Given the description of an element on the screen output the (x, y) to click on. 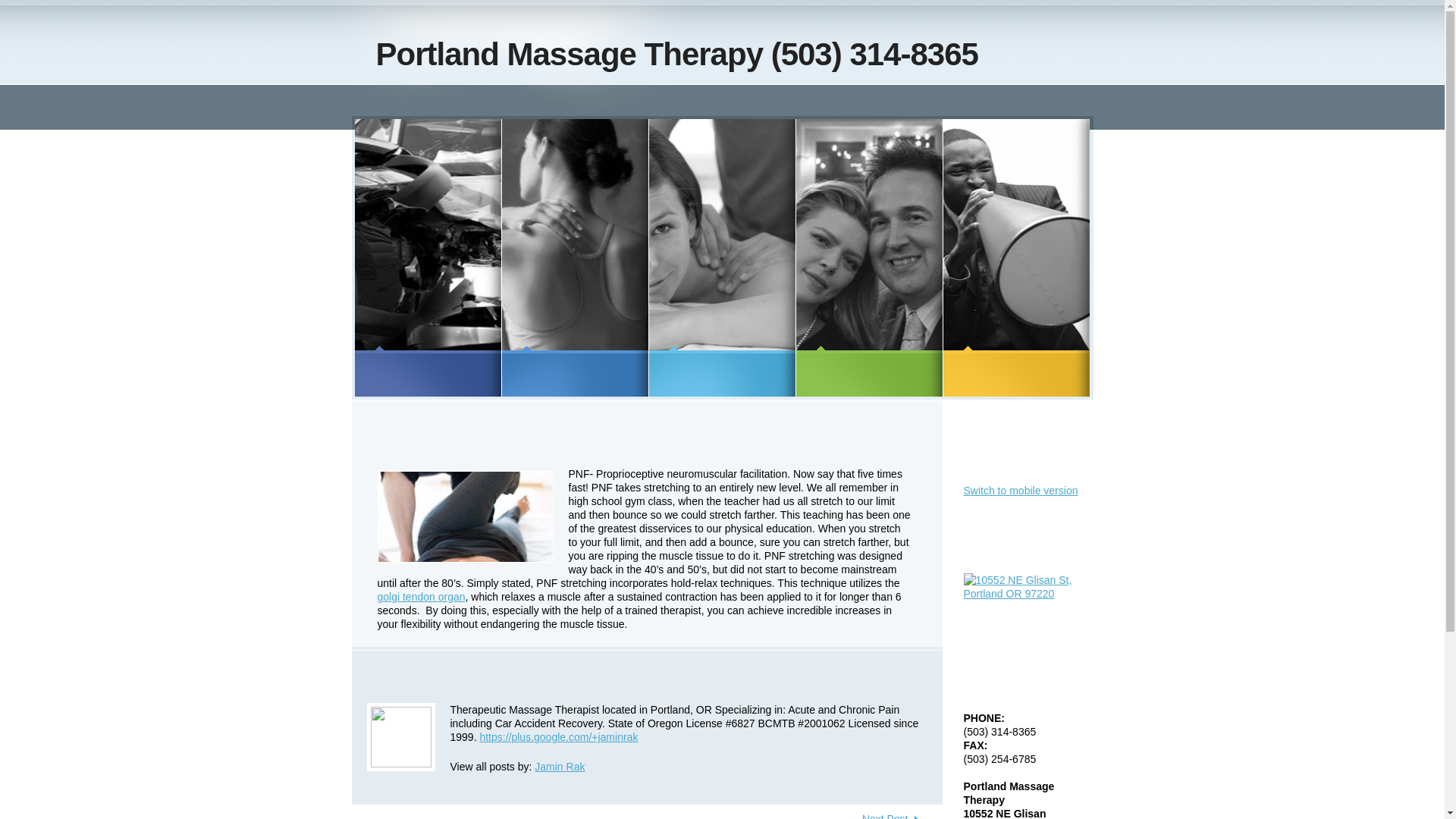
Jamin Rak (559, 766)
Questions for your massage therapist (711, 100)
10552 NE Glisan St, Portland OR 97220 (1021, 580)
Massage therapy office in portland or 97220 (502, 100)
10552 NE Glisan St, Portland OR 97220 (1021, 586)
New massage therapy client intake forms and questions (606, 100)
Next Post (889, 816)
golgi tendon organ (421, 596)
Posts by Jamin Rak (559, 766)
Massage therapy pain relief  (815, 100)
Portland Massage Therapy (397, 100)
Switch to mobile version (1019, 490)
